Given the description of an element on the screen output the (x, y) to click on. 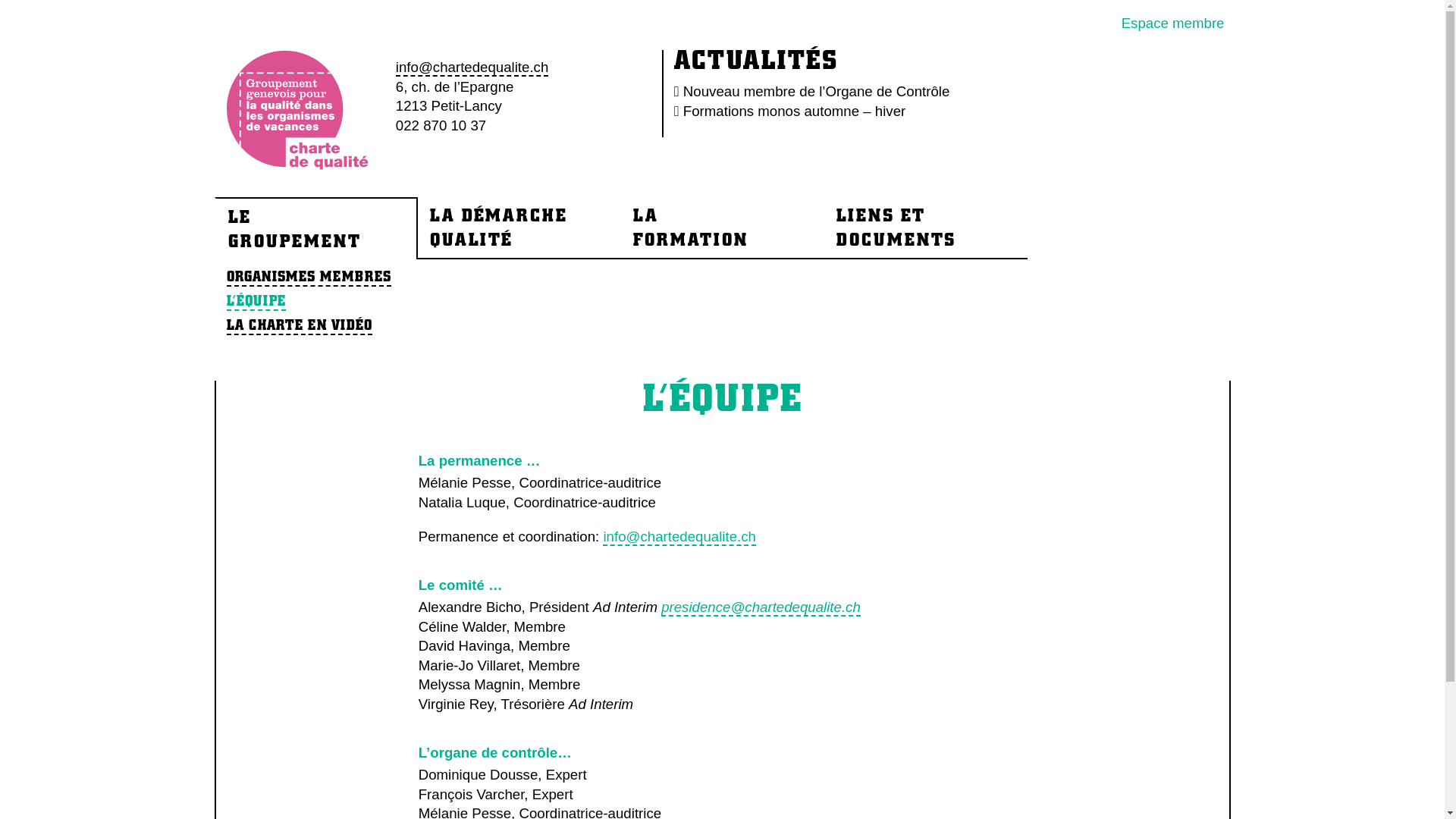
ORGANISMES MEMBRES Element type: text (307, 277)
info@chartedequalite.ch Element type: text (471, 67)
info@chartedequalite.ch Element type: text (678, 537)
LIENS ET DOCUMENTS Element type: text (924, 227)
LE
GROUPEMENT Element type: text (315, 228)
presidence@chartedequalite.ch Element type: text (760, 607)
LA
FORMATION Element type: text (721, 227)
Espace membre Element type: text (1172, 23)
